Given the description of an element on the screen output the (x, y) to click on. 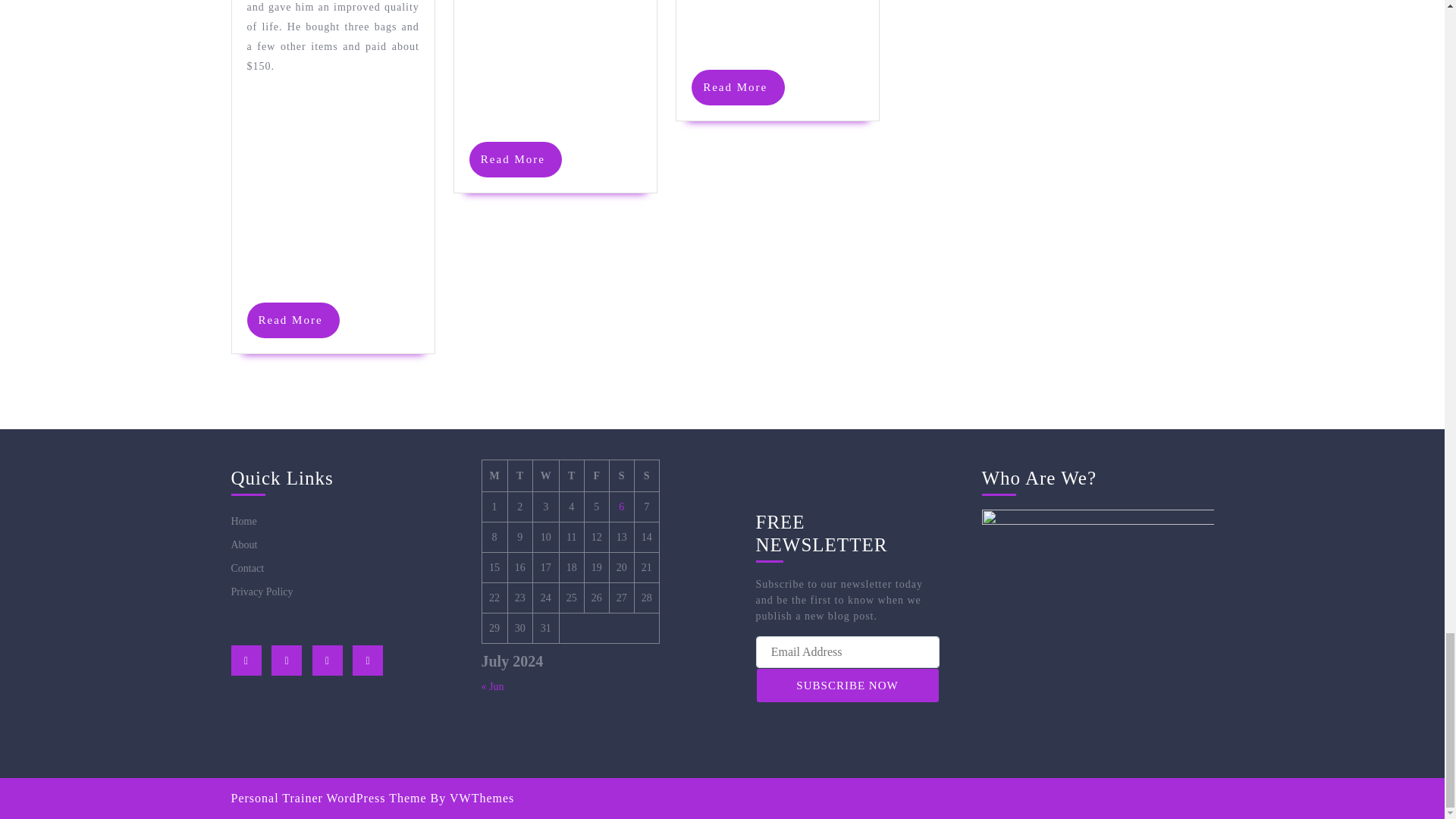
SUBSCRIBE NOW (293, 320)
